Given the description of an element on the screen output the (x, y) to click on. 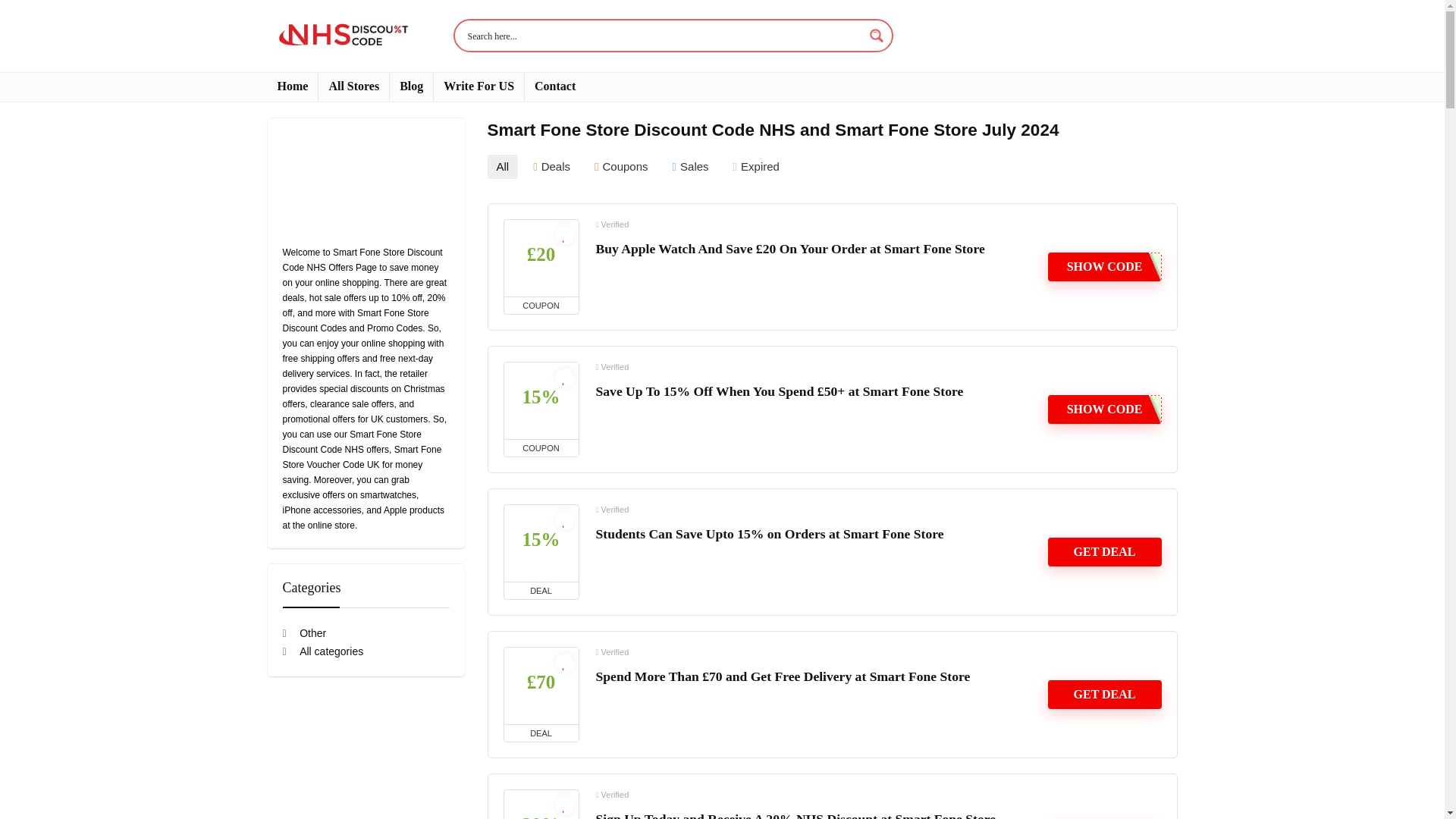
GET DEAL (1104, 551)
Home (291, 86)
All Stores (353, 86)
GET DEAL (1104, 694)
All categories (322, 651)
Blog (411, 86)
Other (304, 632)
Write For US (478, 86)
Contact (554, 86)
